Given the description of an element on the screen output the (x, y) to click on. 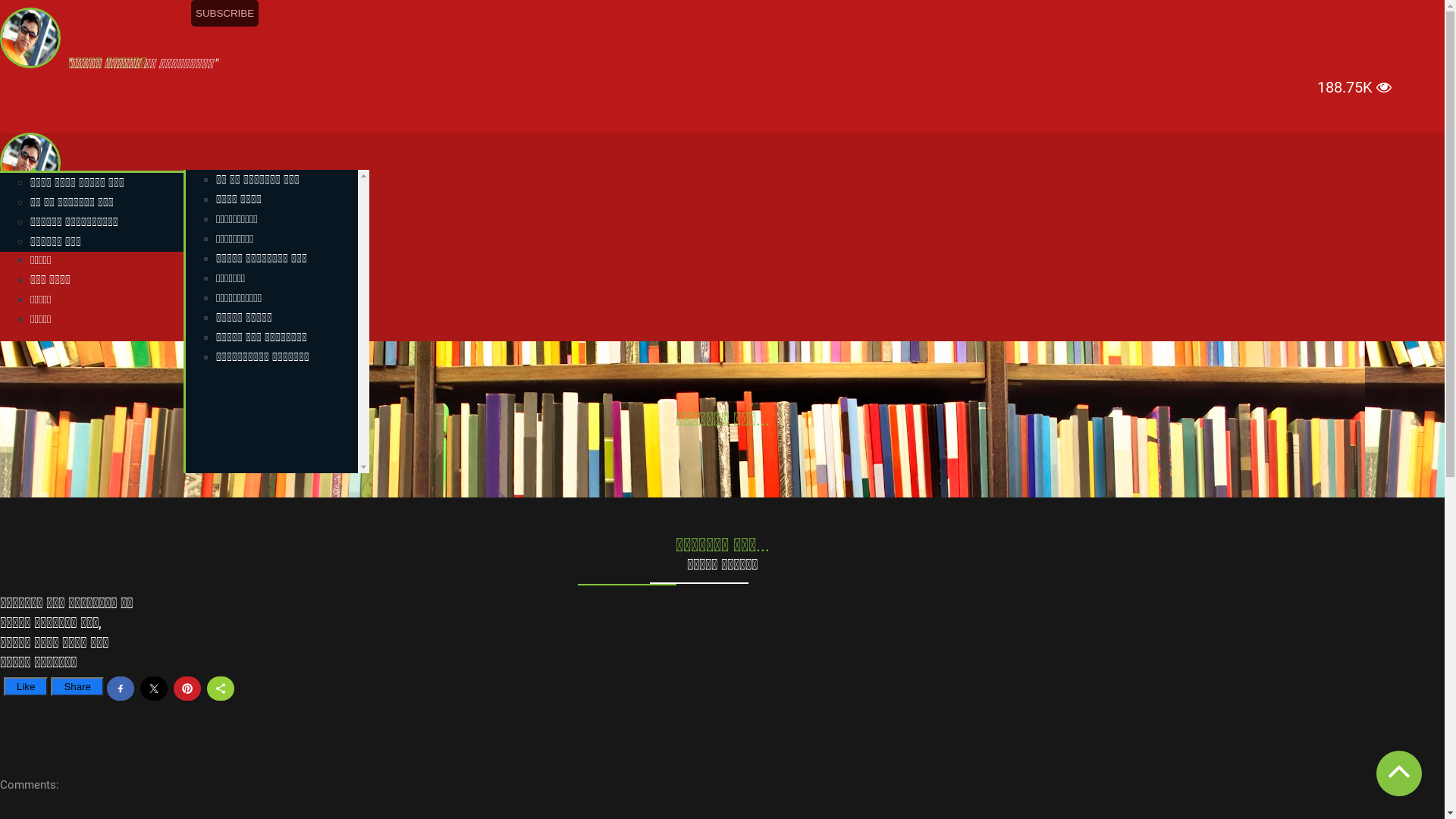
SUBSCRIBE Element type: text (224, 13)
Like Element type: text (25, 686)
Share Element type: text (76, 686)
Heart for Love... Element type: text (257, 790)
